Given the description of an element on the screen output the (x, y) to click on. 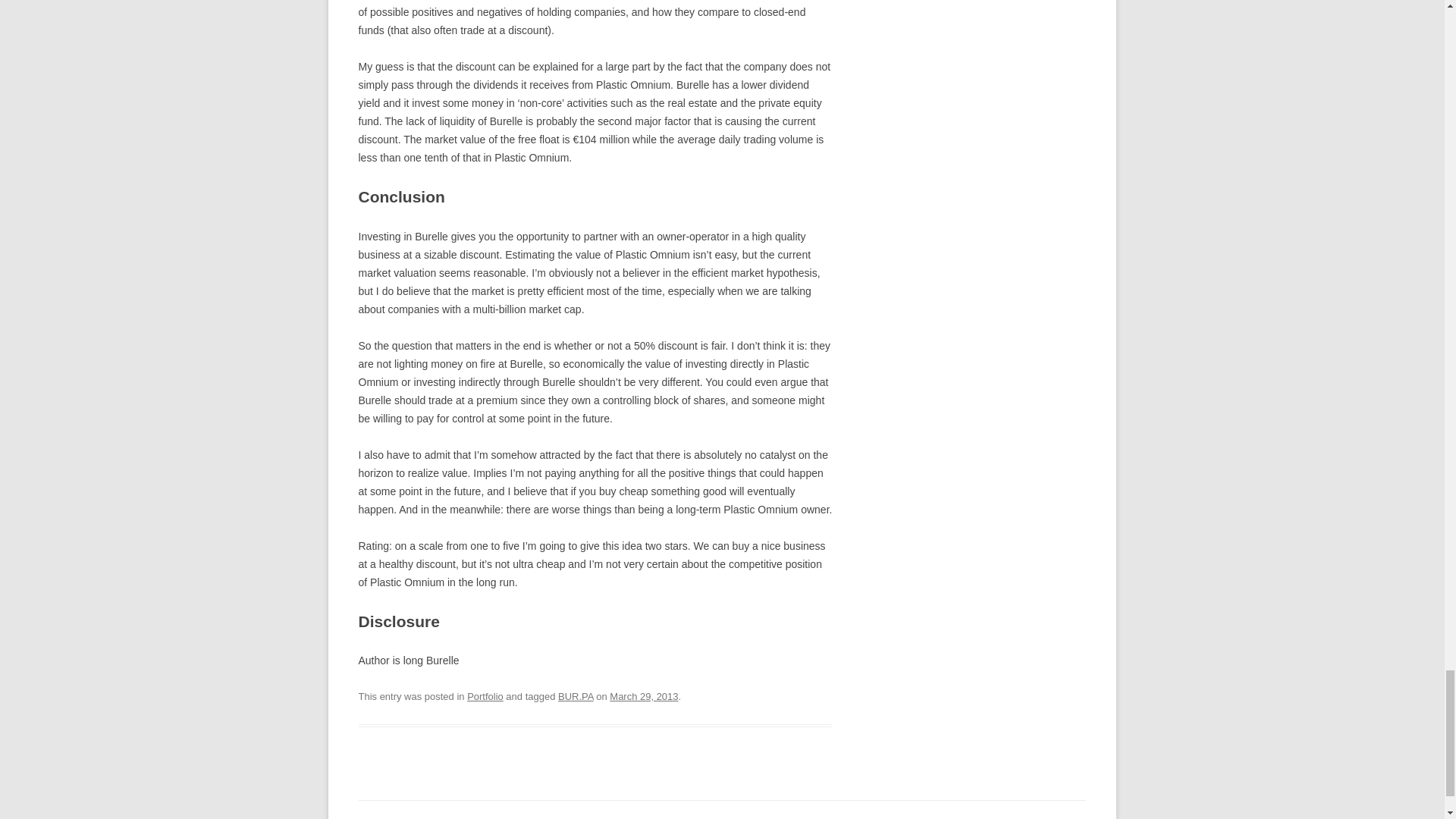
March 29, 2013 (644, 696)
Portfolio (485, 696)
BUR.PA (575, 696)
5:24 pm (644, 696)
